Given the description of an element on the screen output the (x, y) to click on. 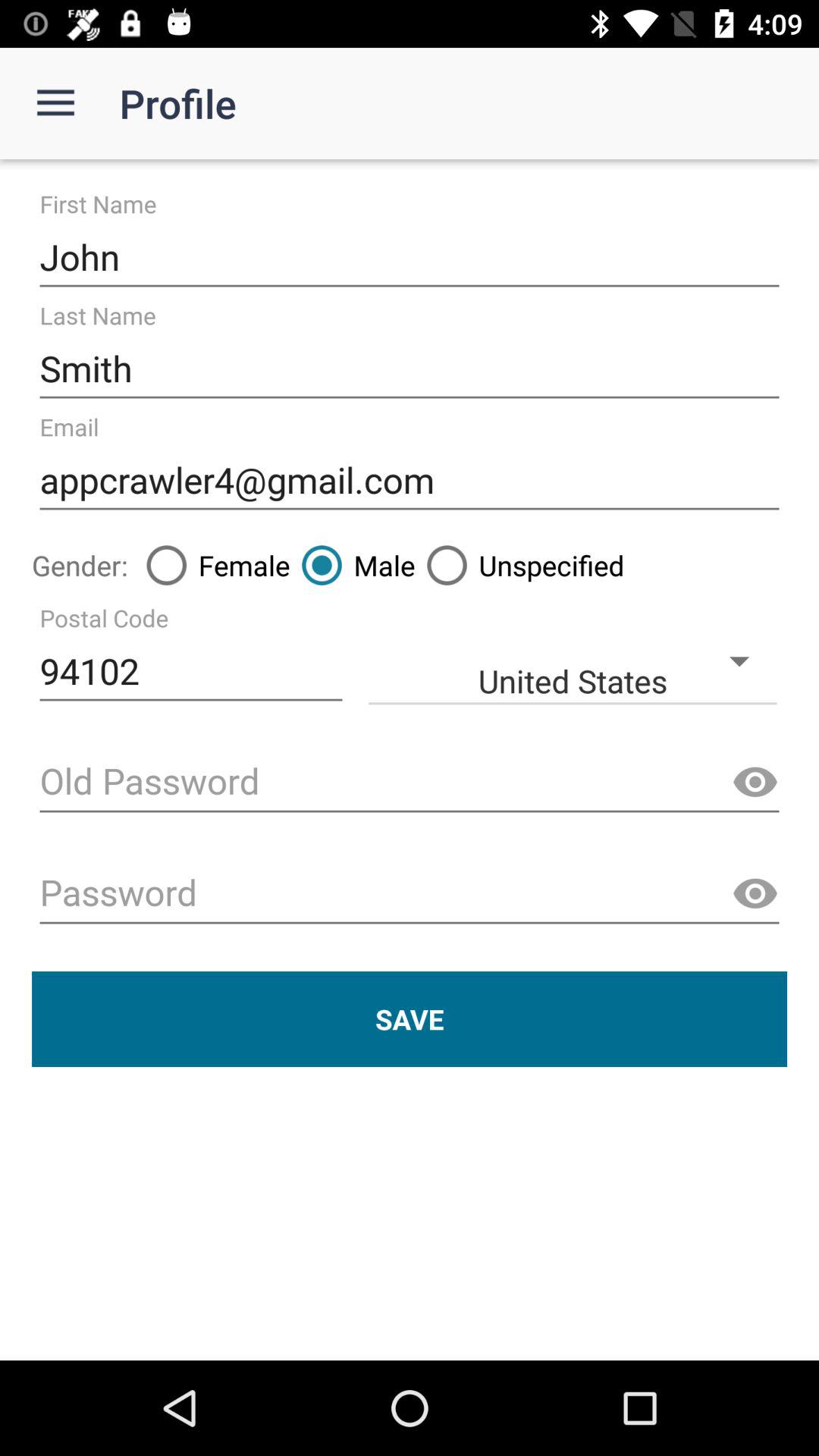
put your old password (409, 783)
